Given the description of an element on the screen output the (x, y) to click on. 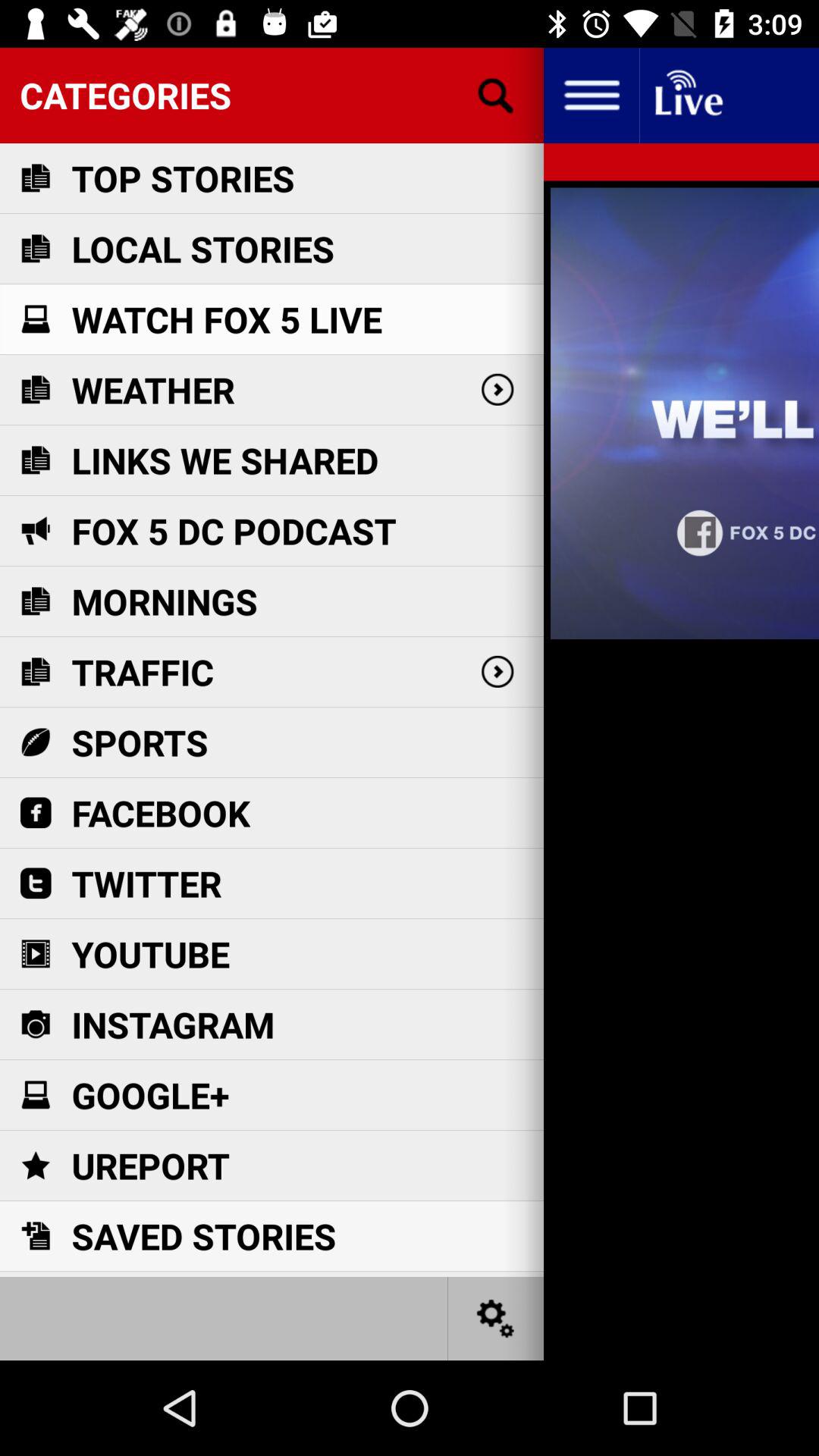
scroll until instagram icon (172, 1024)
